Given the description of an element on the screen output the (x, y) to click on. 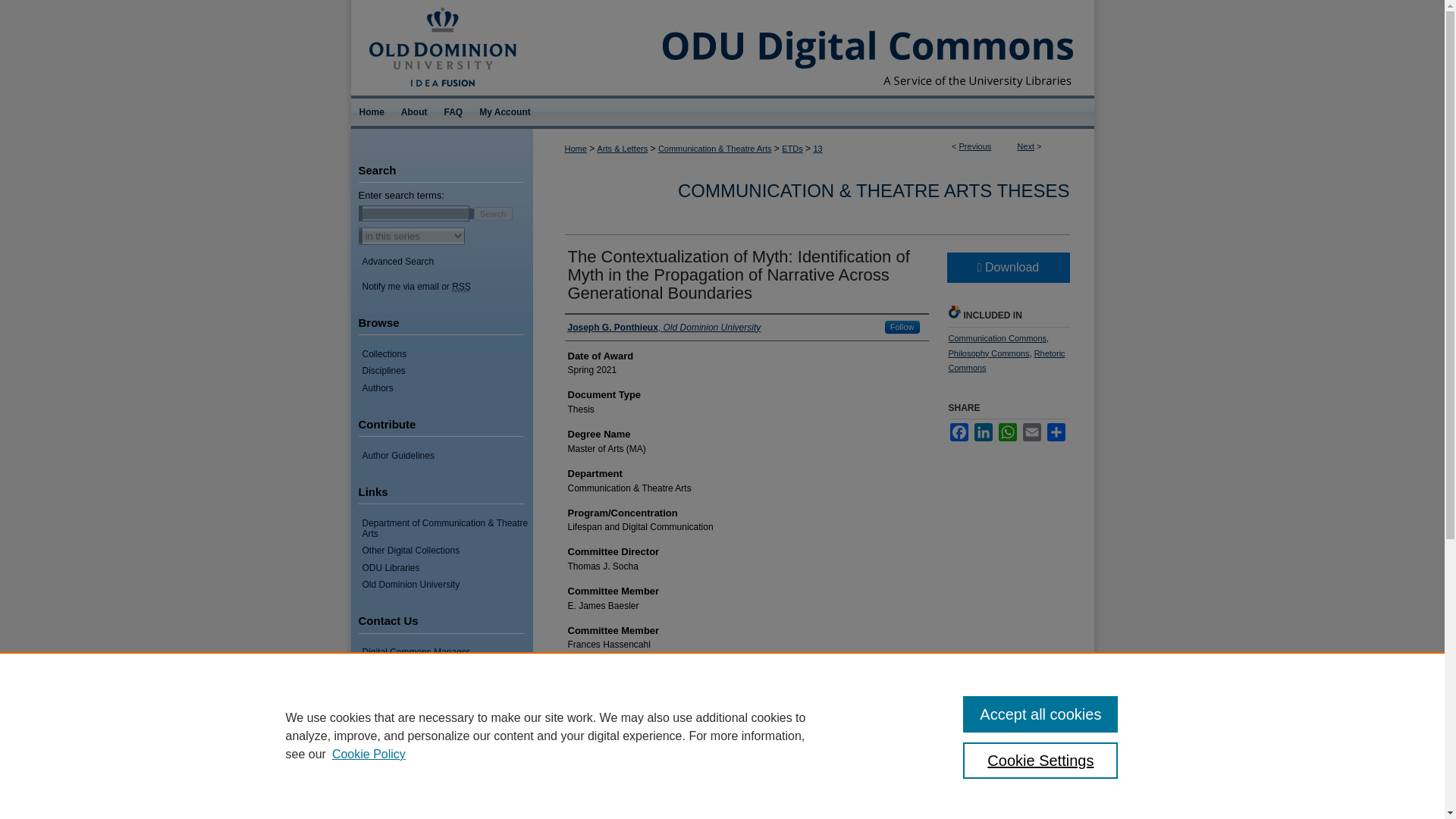
ETDs (792, 148)
My Account (504, 111)
Notify me via email or RSS (447, 286)
WhatsApp (1006, 432)
Rhetoric Commons (1005, 360)
Previous (975, 145)
About (414, 111)
Search (493, 213)
Home (575, 148)
Joseph G. Ponthieux, Old Dominion University (663, 327)
Communication Commons (996, 338)
ODU Digital Commons (812, 47)
Facebook (958, 432)
Advanced Search (397, 261)
13 (817, 148)
